Given the description of an element on the screen output the (x, y) to click on. 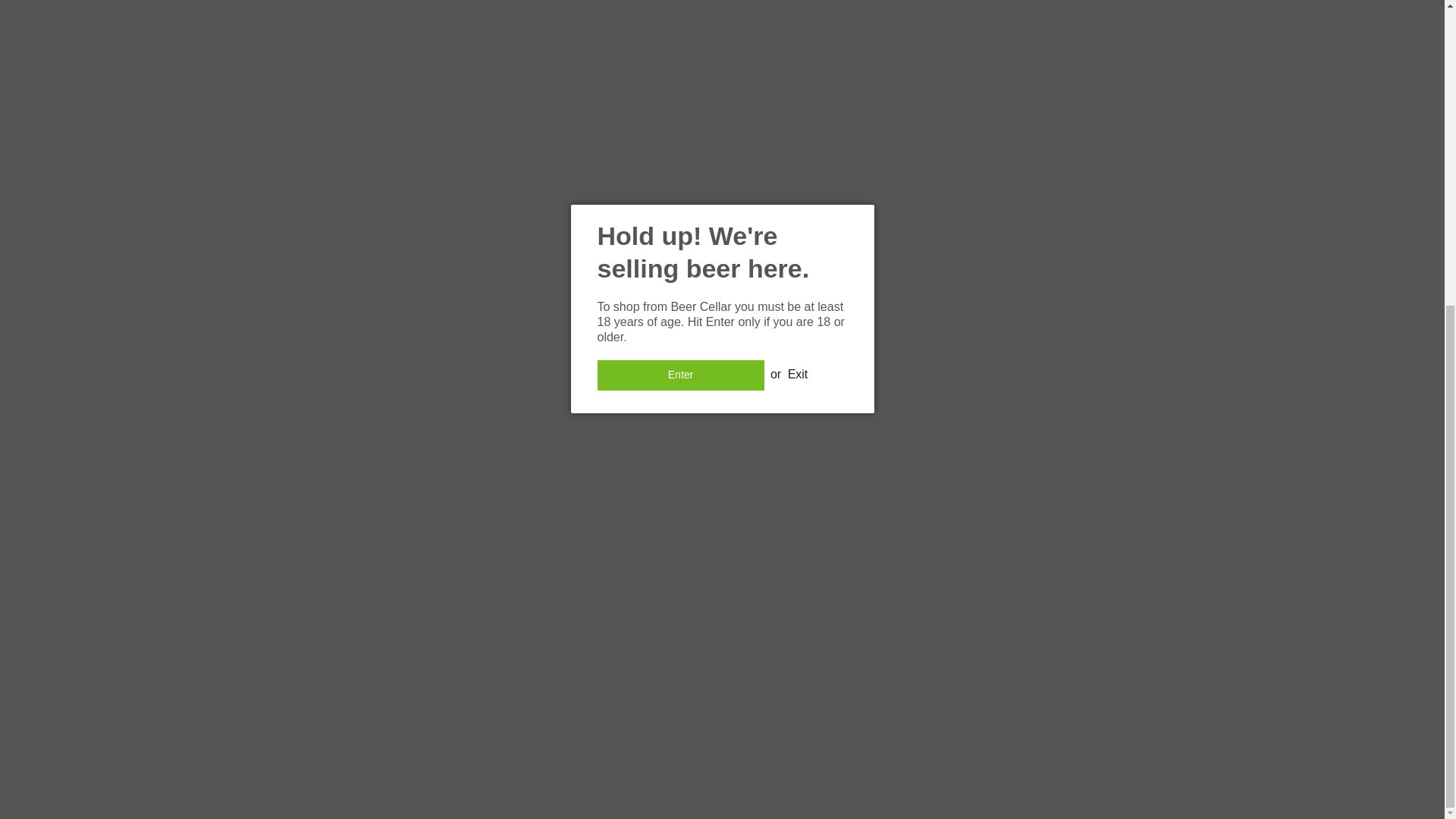
Apple Pay (670, 760)
Mastercard (740, 760)
Visa (846, 760)
Join (1029, 536)
Shop Pay (775, 760)
American Express (635, 760)
Union Pay (812, 760)
1 (941, 17)
Google Pay (705, 760)
Add to Cart (941, 62)
